Given the description of an element on the screen output the (x, y) to click on. 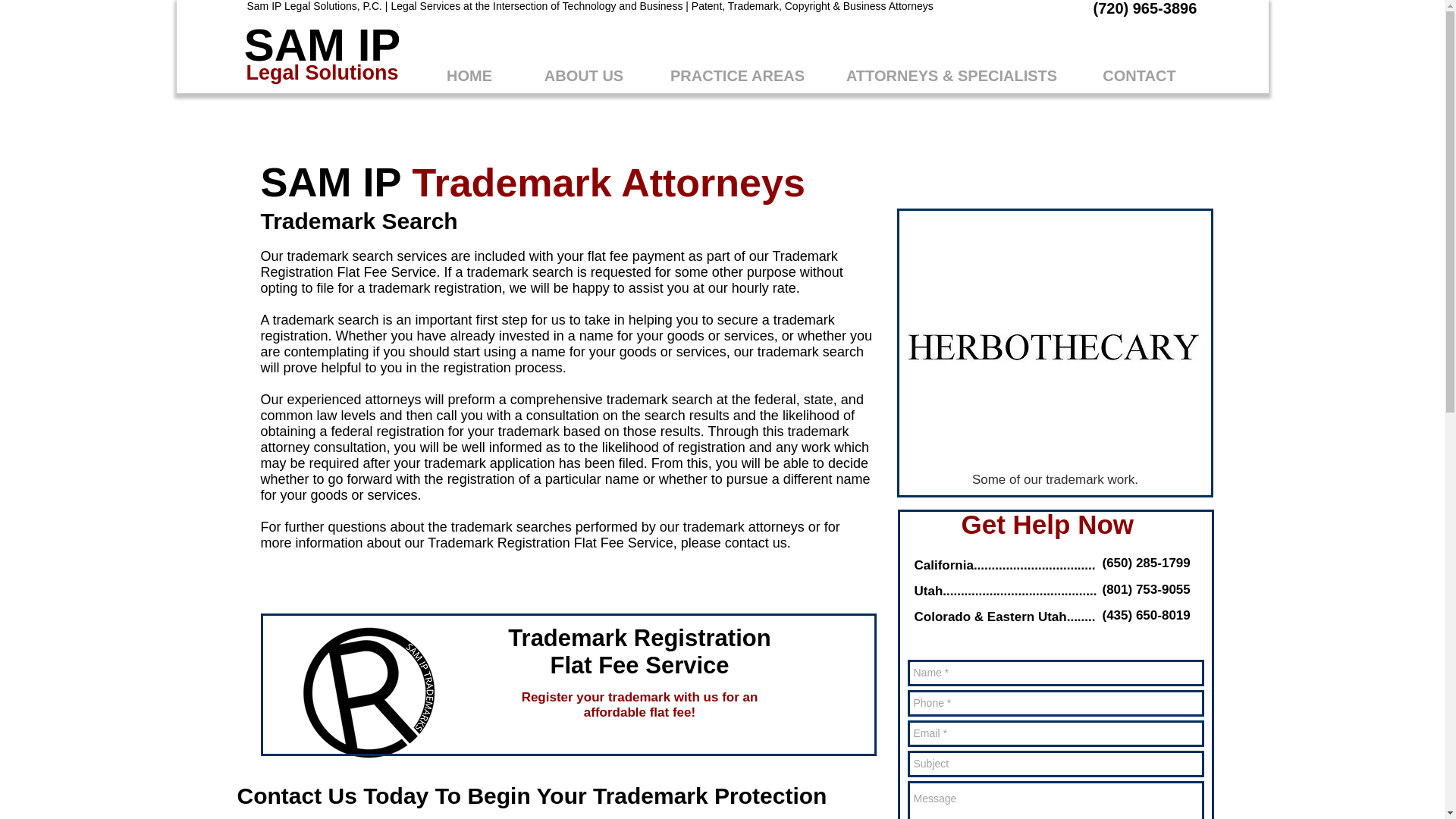
HOME (469, 75)
ABOUT US (582, 75)
CONTACT (1139, 75)
PRACTICE AREAS (738, 75)
SAM IP (322, 44)
